Given the description of an element on the screen output the (x, y) to click on. 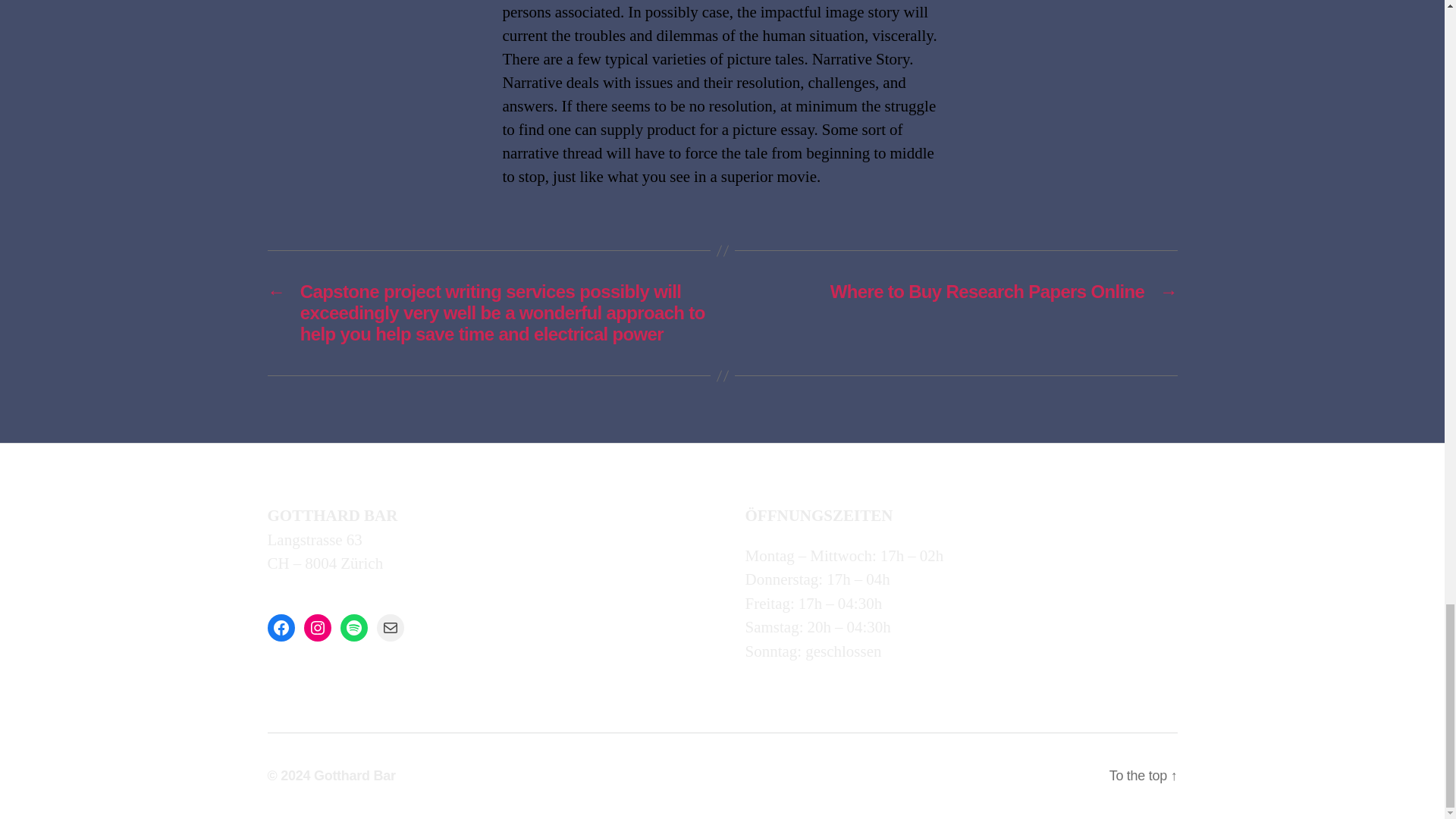
Instagram (316, 627)
Spotify (352, 627)
Langstrasse 63 (313, 539)
Facebook (280, 627)
Gotthard Bar (355, 775)
Mail (389, 627)
GOTTHARD BAR (331, 516)
